Given the description of an element on the screen output the (x, y) to click on. 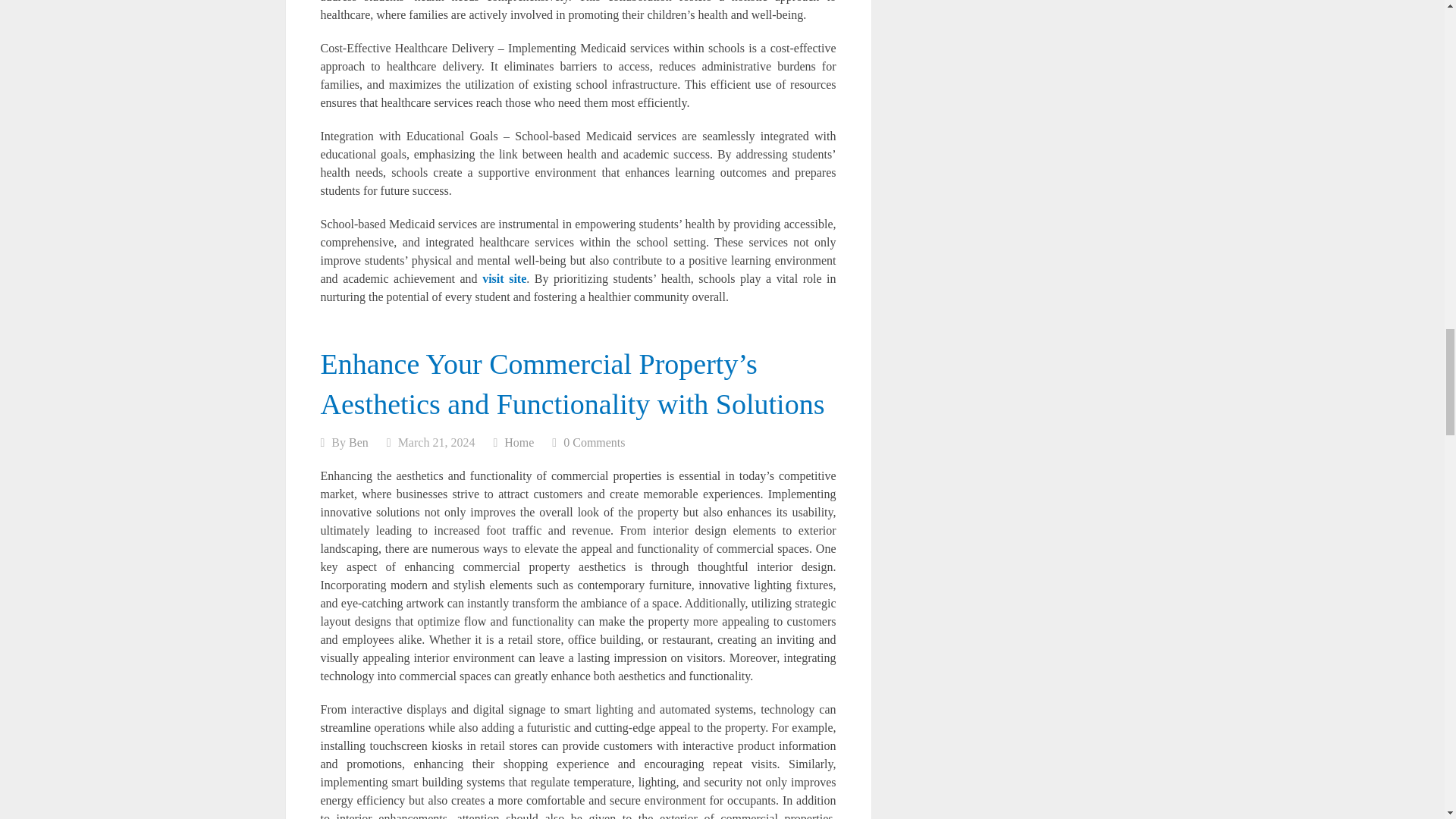
visit site (503, 278)
Posts by Ben (358, 441)
Home (518, 441)
0 Comments (593, 441)
Ben (358, 441)
